Given the description of an element on the screen output the (x, y) to click on. 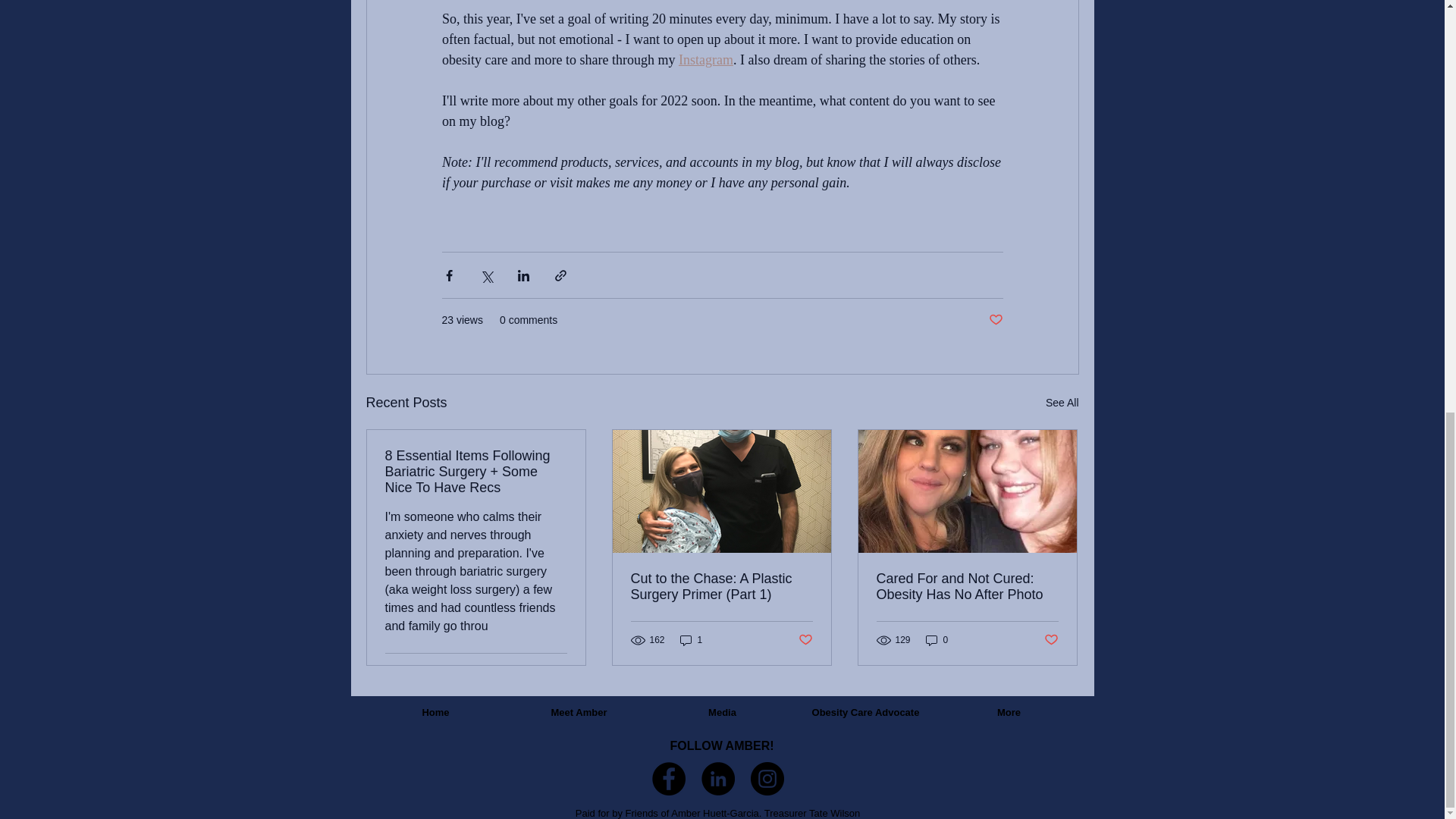
Media (721, 712)
Meet Amber (578, 712)
Instagram (705, 59)
Post not marked as liked (804, 639)
Post not marked as liked (1050, 639)
Home (435, 712)
Cared For and Not Cured: Obesity Has No After Photo (967, 586)
1 like. Post not marked as liked (555, 672)
See All (1061, 403)
1 (691, 640)
Post not marked as liked (995, 320)
0 (937, 640)
Obesity Care Advocate (865, 712)
